Given the description of an element on the screen output the (x, y) to click on. 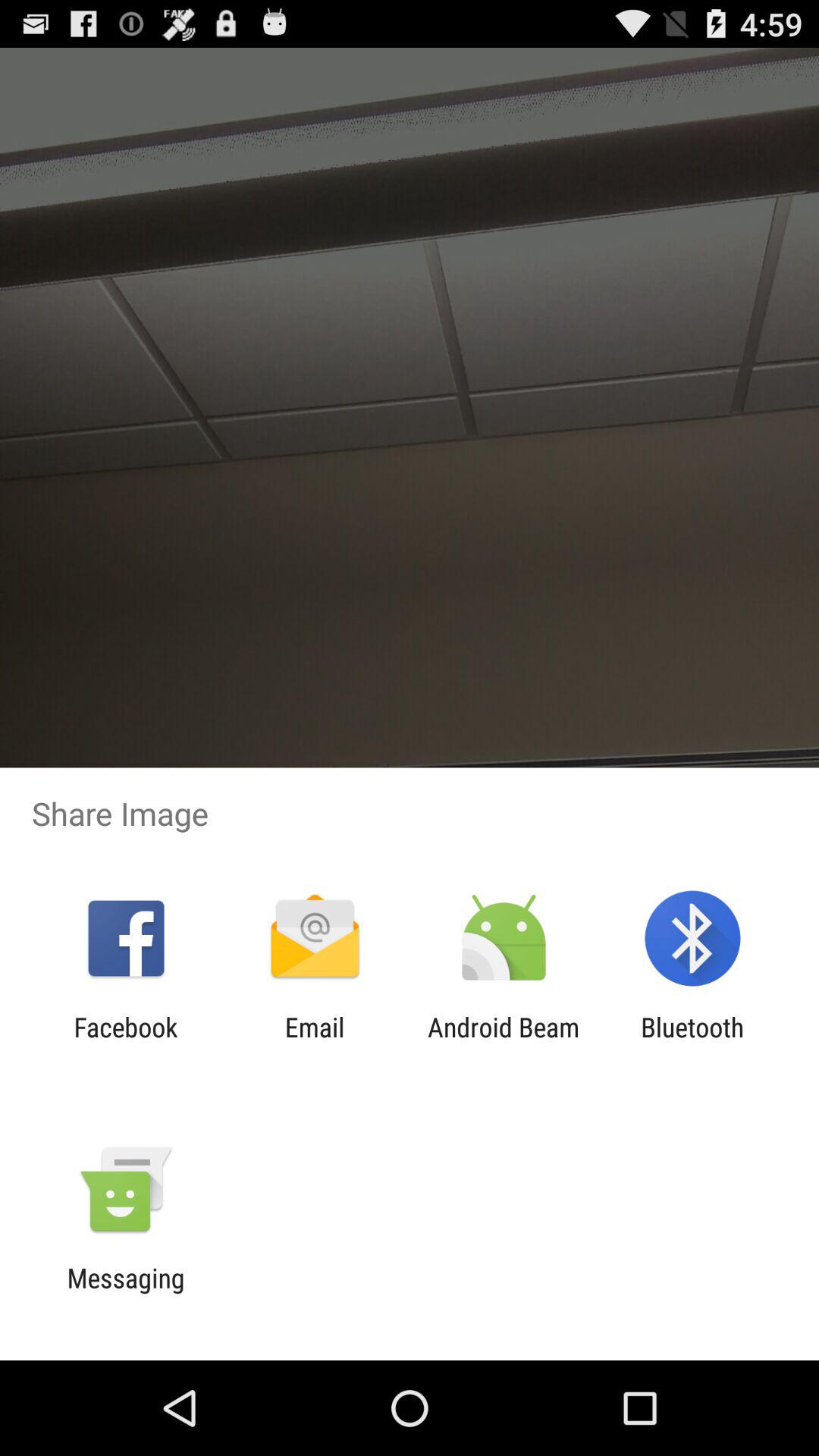
jump to the facebook app (125, 1042)
